Given the description of an element on the screen output the (x, y) to click on. 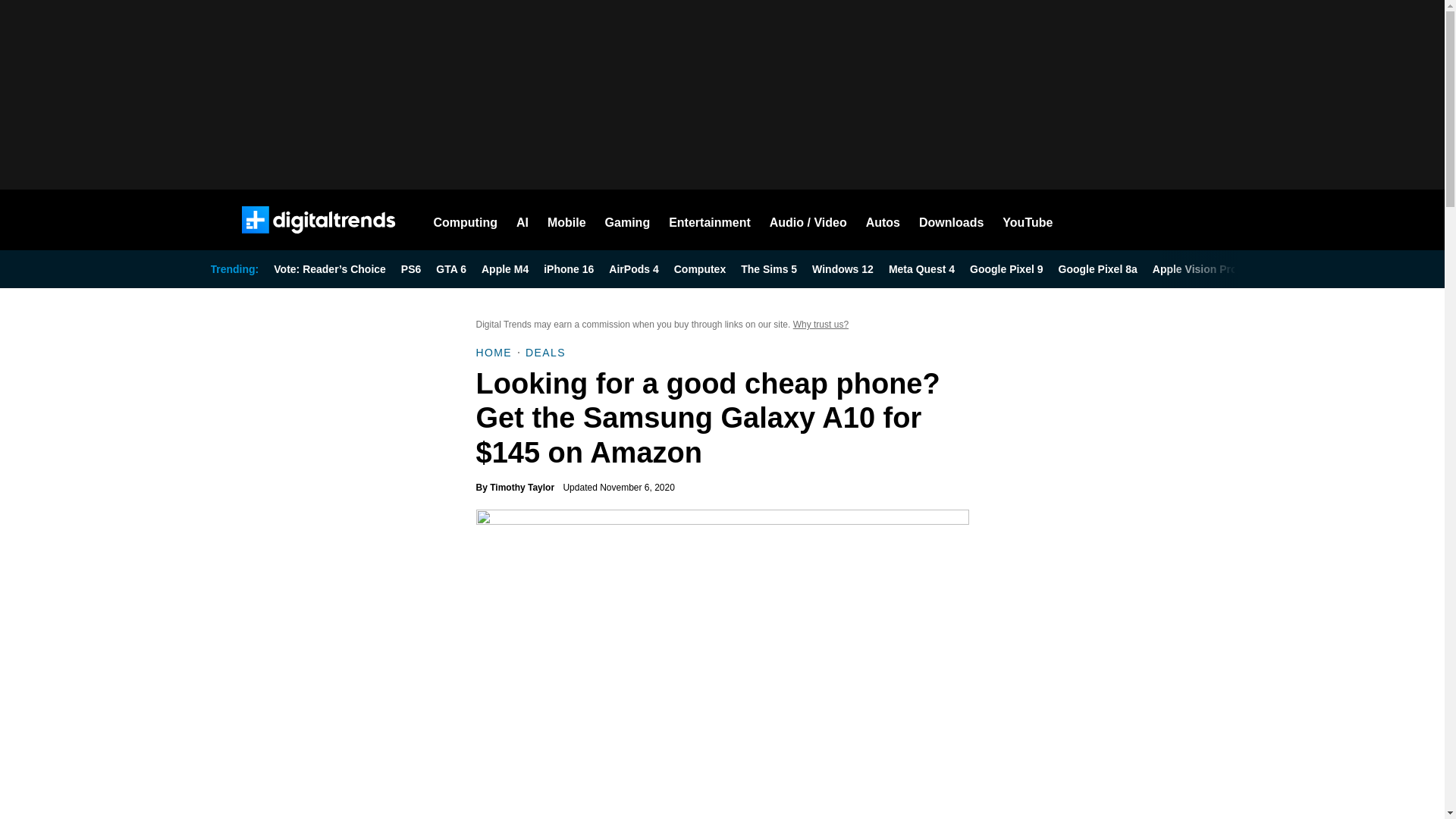
Computing (465, 219)
Downloads (951, 219)
Entertainment (709, 219)
